Given the description of an element on the screen output the (x, y) to click on. 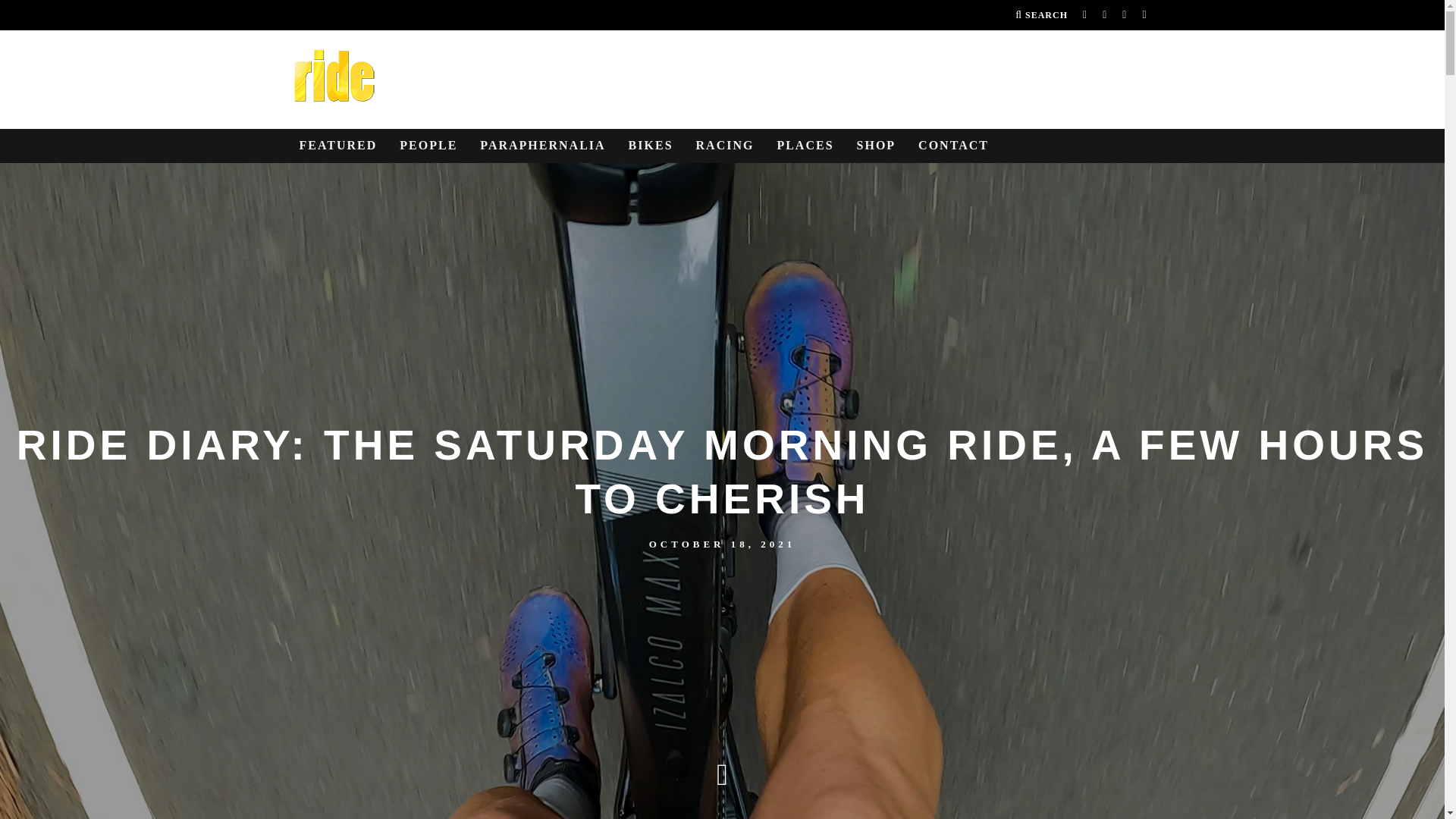
PEOPLE (427, 145)
2024 Official Tour de France Guide (876, 145)
PARAPHERNALIA (542, 145)
Search (1040, 15)
FEATURED (337, 145)
SEARCH (1040, 15)
